Given the description of an element on the screen output the (x, y) to click on. 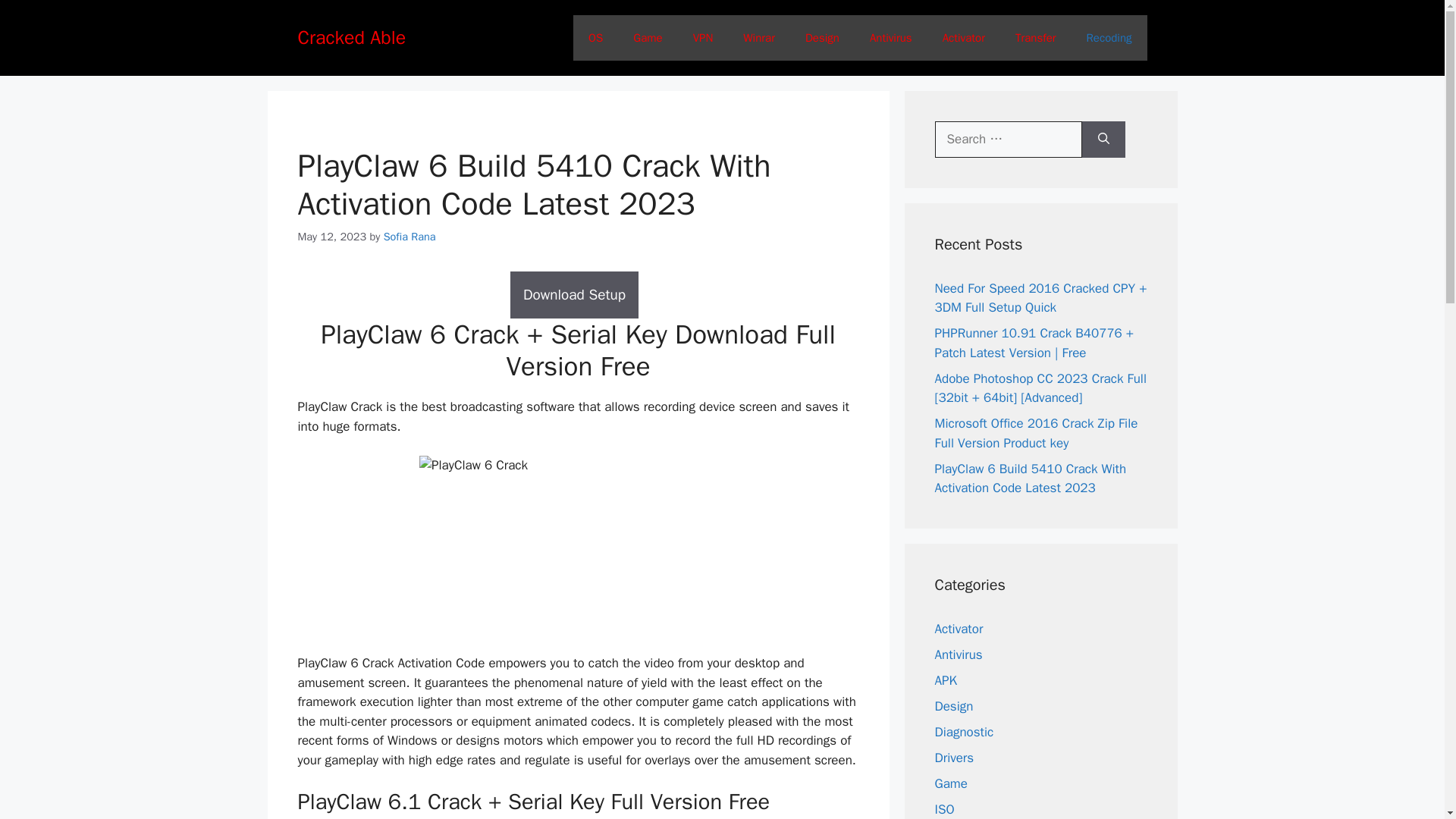
Design (953, 705)
Search for: (1007, 139)
View all posts by Sofia Rana (409, 236)
Winrar (759, 37)
APK (945, 679)
Download Setup (578, 295)
Sofia Rana (409, 236)
Transfer (1035, 37)
Game (647, 37)
